Given the description of an element on the screen output the (x, y) to click on. 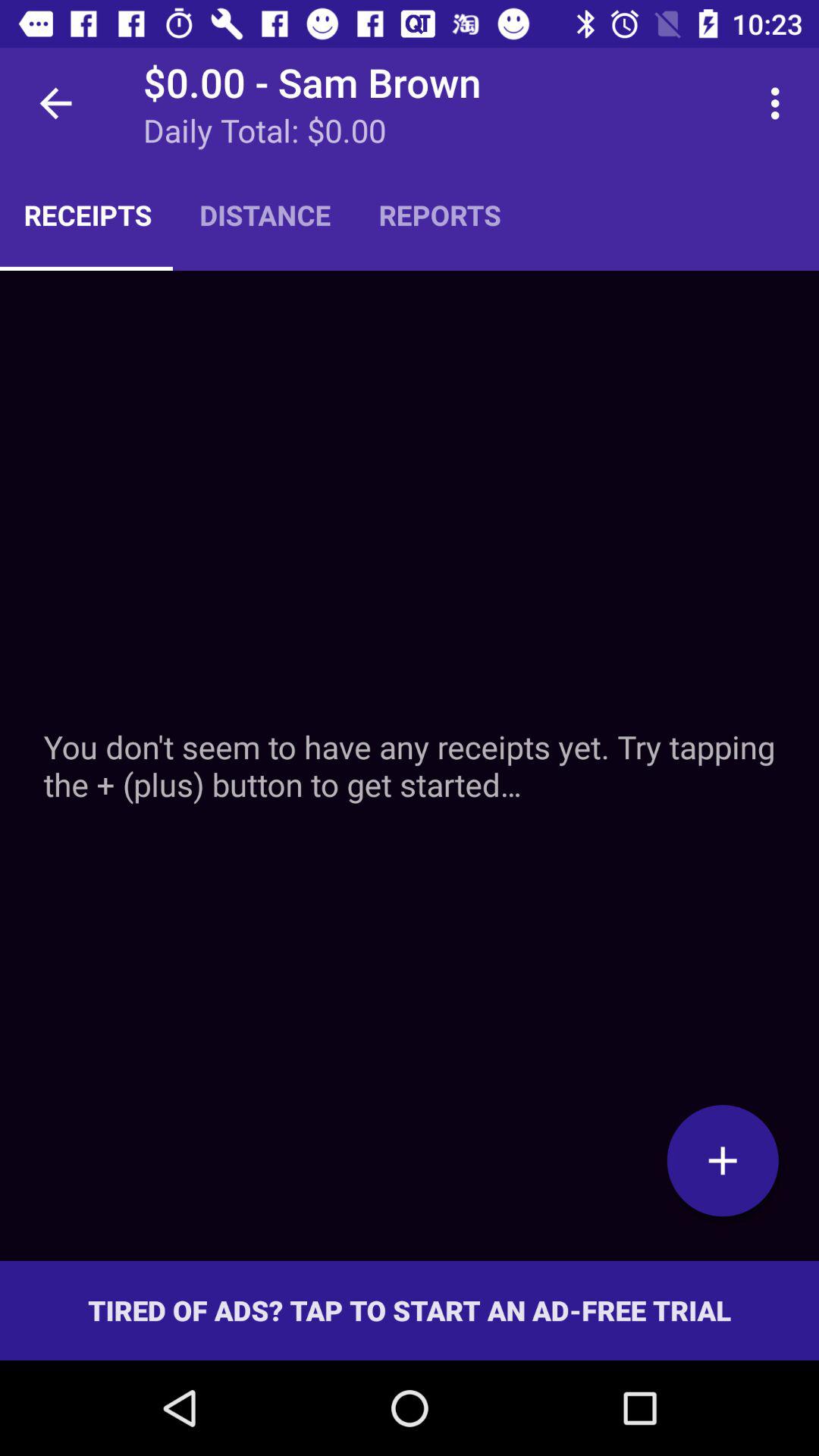
add receipt (722, 1160)
